Given the description of an element on the screen output the (x, y) to click on. 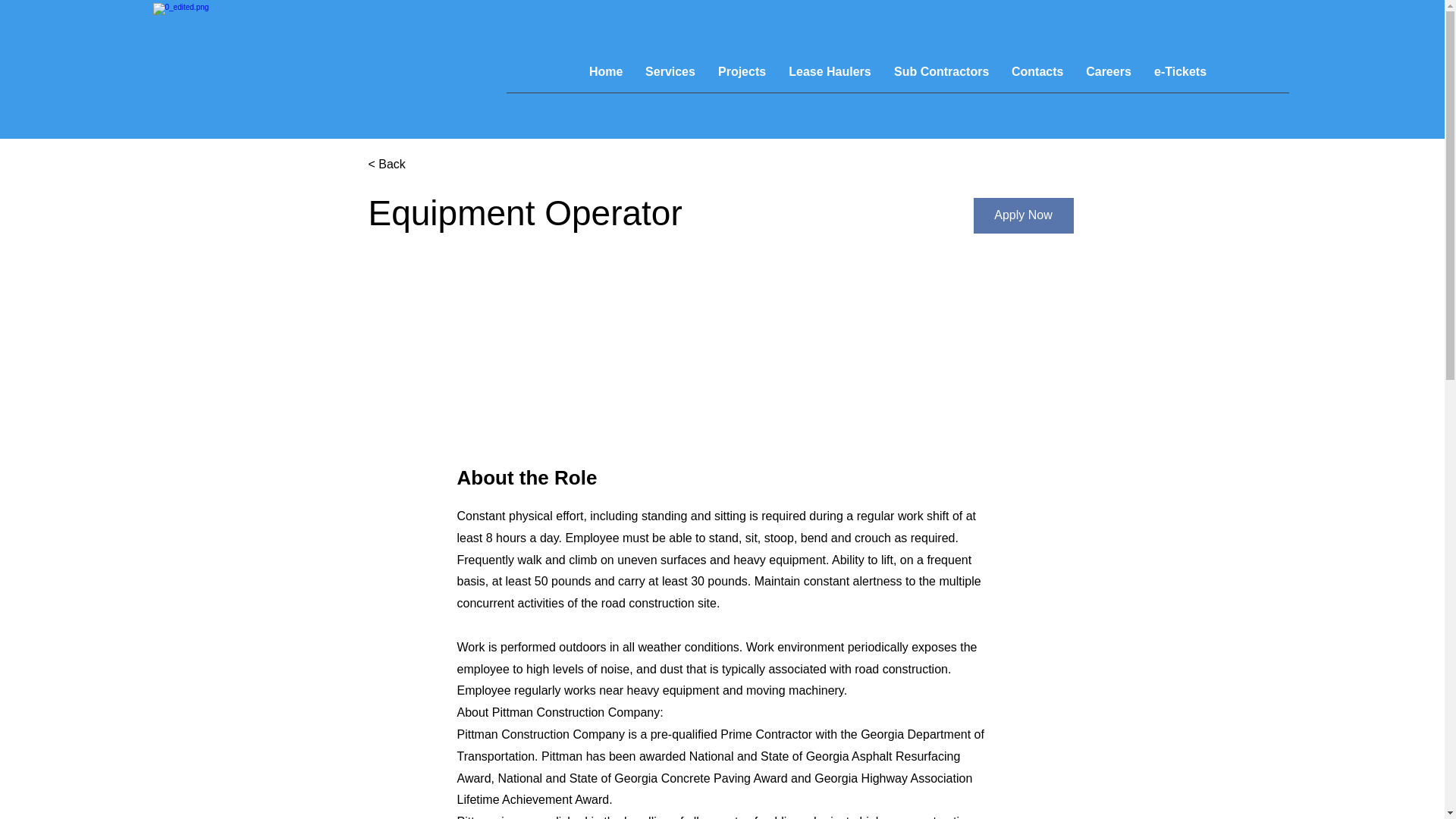
Projects (741, 76)
Apply Now (1024, 215)
Contacts (1037, 76)
Lease Haulers (829, 76)
Careers (1108, 76)
Sub Contractors (941, 76)
Home (605, 76)
e-Tickets (1179, 76)
Services (669, 76)
